Given the description of an element on the screen output the (x, y) to click on. 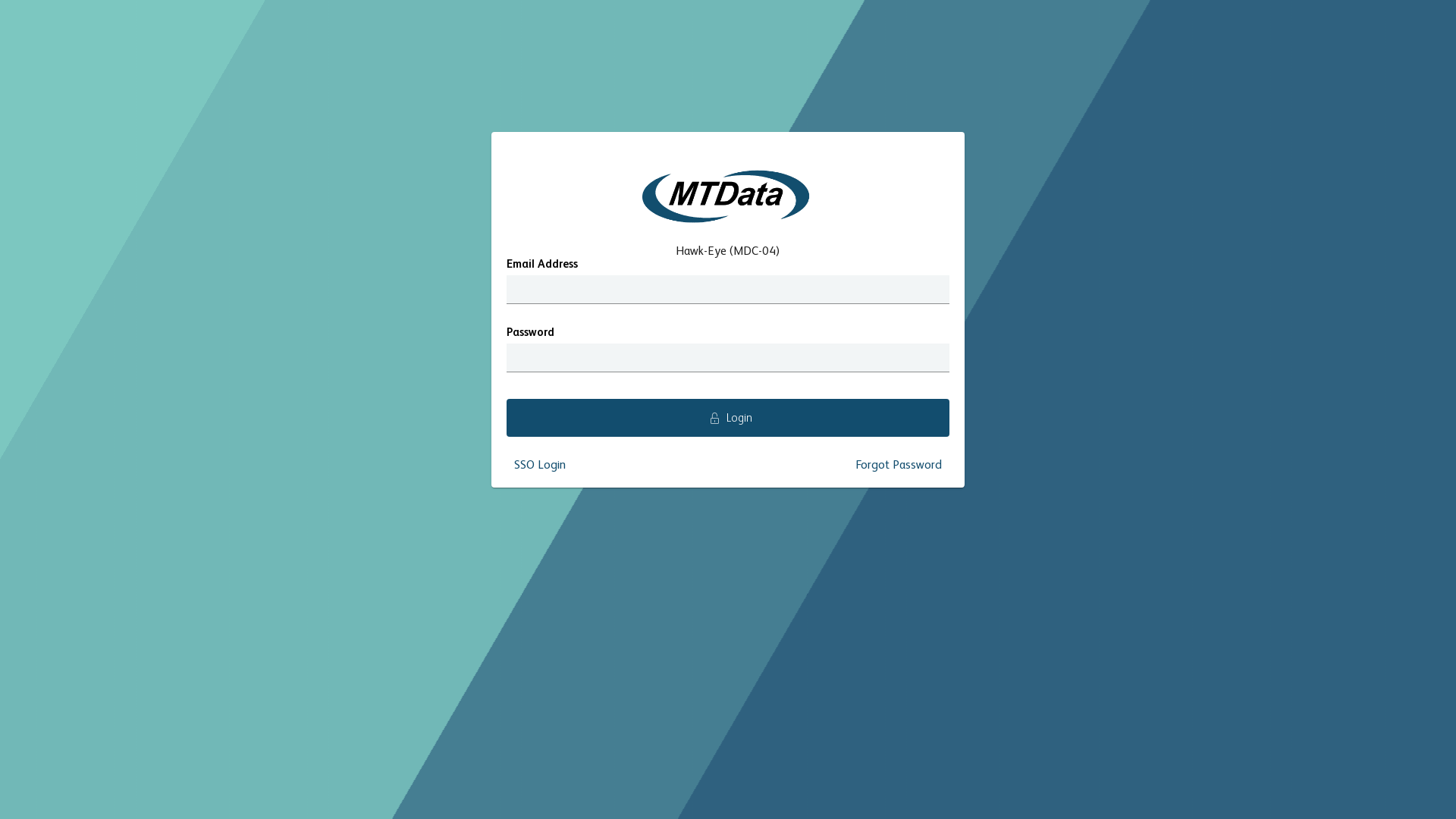
Login Element type: text (727, 417)
Forgot Password Element type: text (898, 465)
SSO Login Element type: text (539, 465)
